Given the description of an element on the screen output the (x, y) to click on. 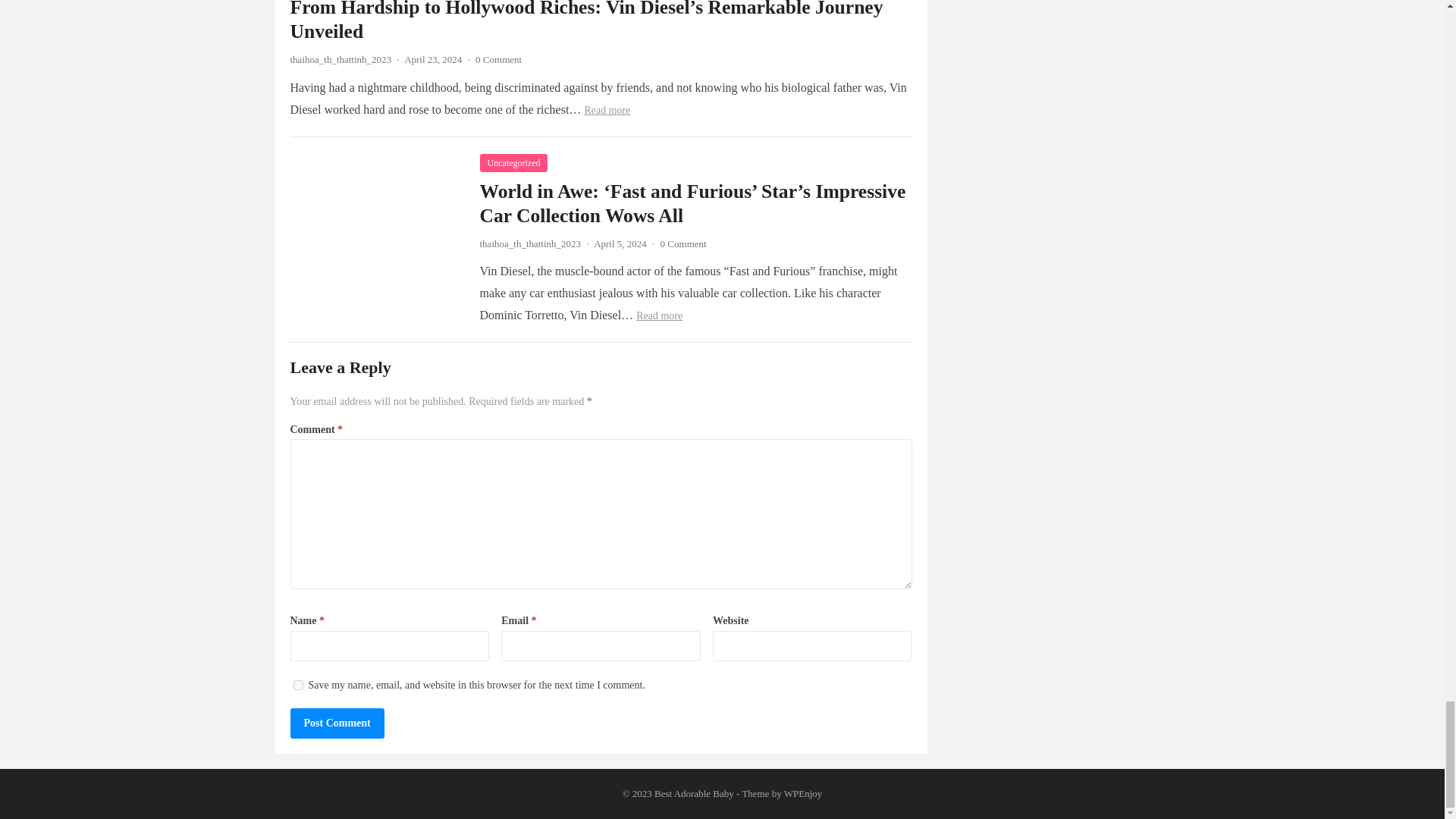
yes (297, 685)
Post Comment (336, 723)
